Given the description of an element on the screen output the (x, y) to click on. 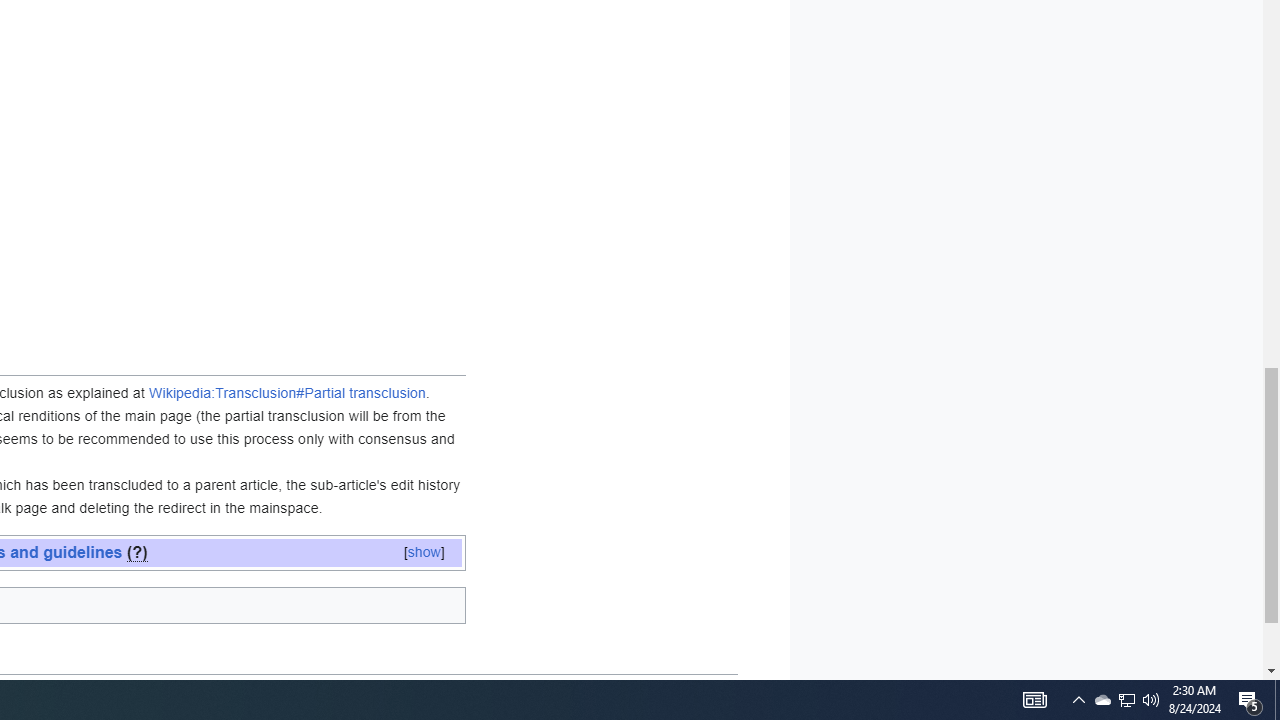
Wikipedia:Transclusion#Partial transclusion (287, 393)
[show] (424, 552)
